Given the description of an element on the screen output the (x, y) to click on. 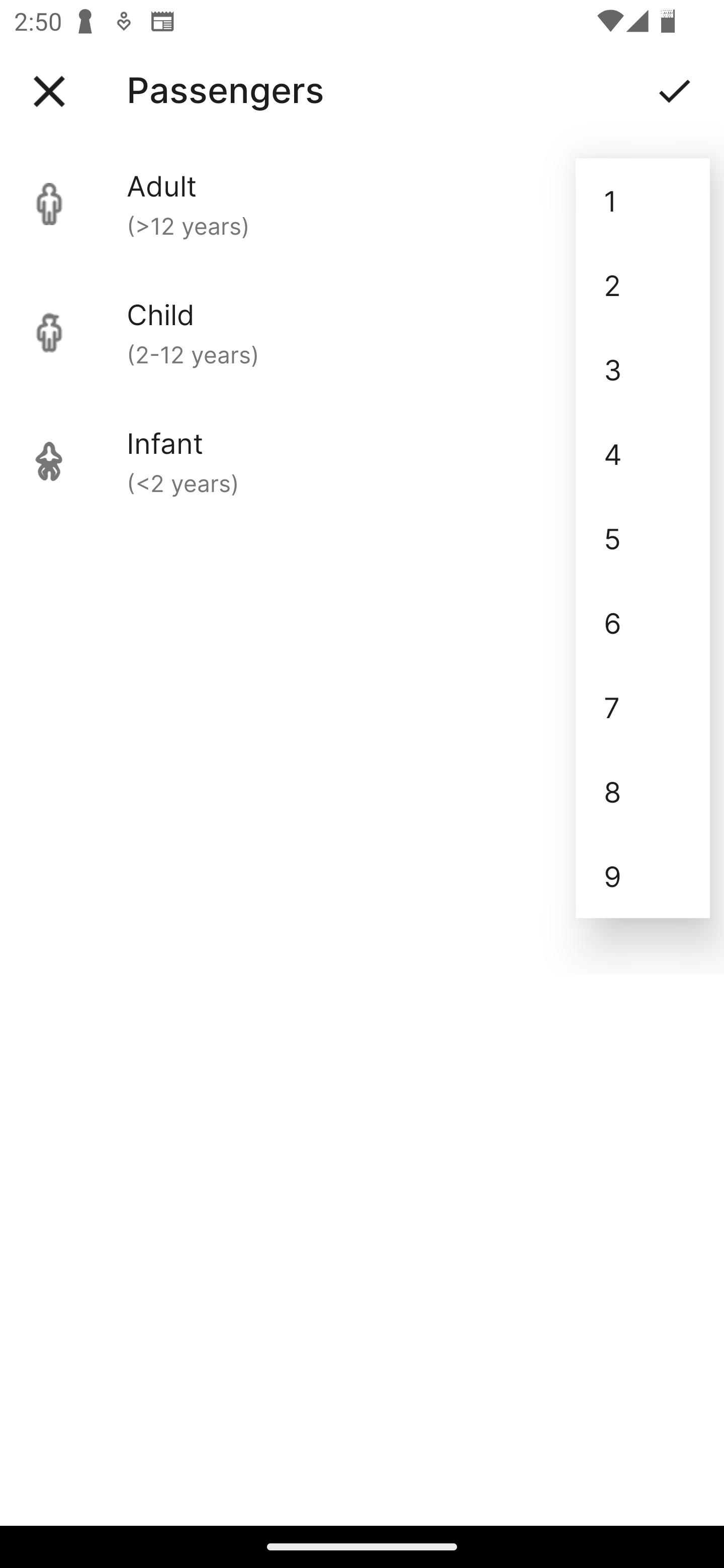
1 (642, 200)
2 (642, 285)
3 (642, 368)
4 (642, 452)
5 (642, 537)
6 (642, 622)
7 (642, 706)
8 (642, 791)
9 (642, 876)
